Given the description of an element on the screen output the (x, y) to click on. 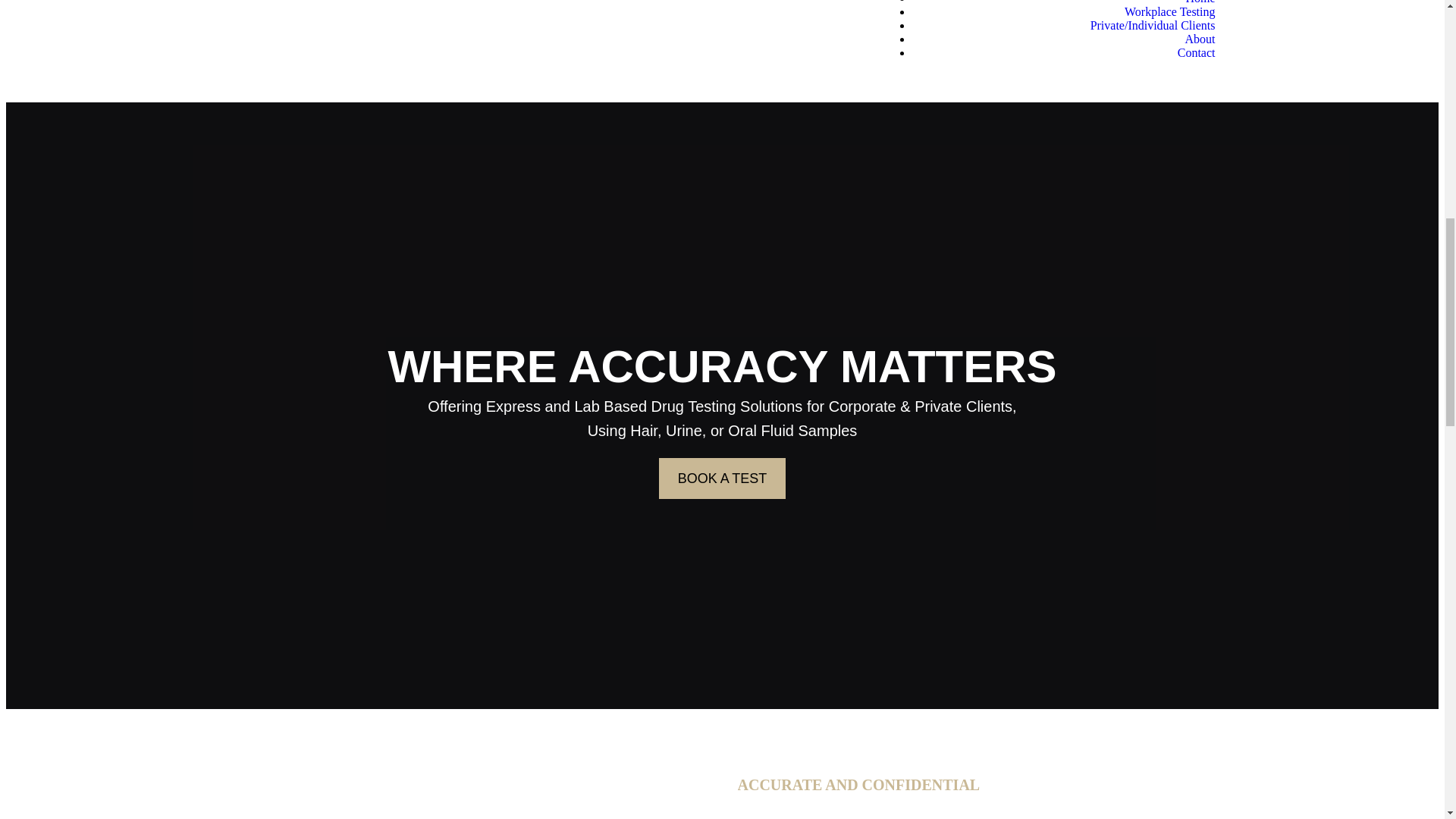
Workplace Testing (1169, 11)
About (1199, 38)
Contact (1196, 52)
Home (1199, 2)
BOOK A TEST (722, 478)
